Given the description of an element on the screen output the (x, y) to click on. 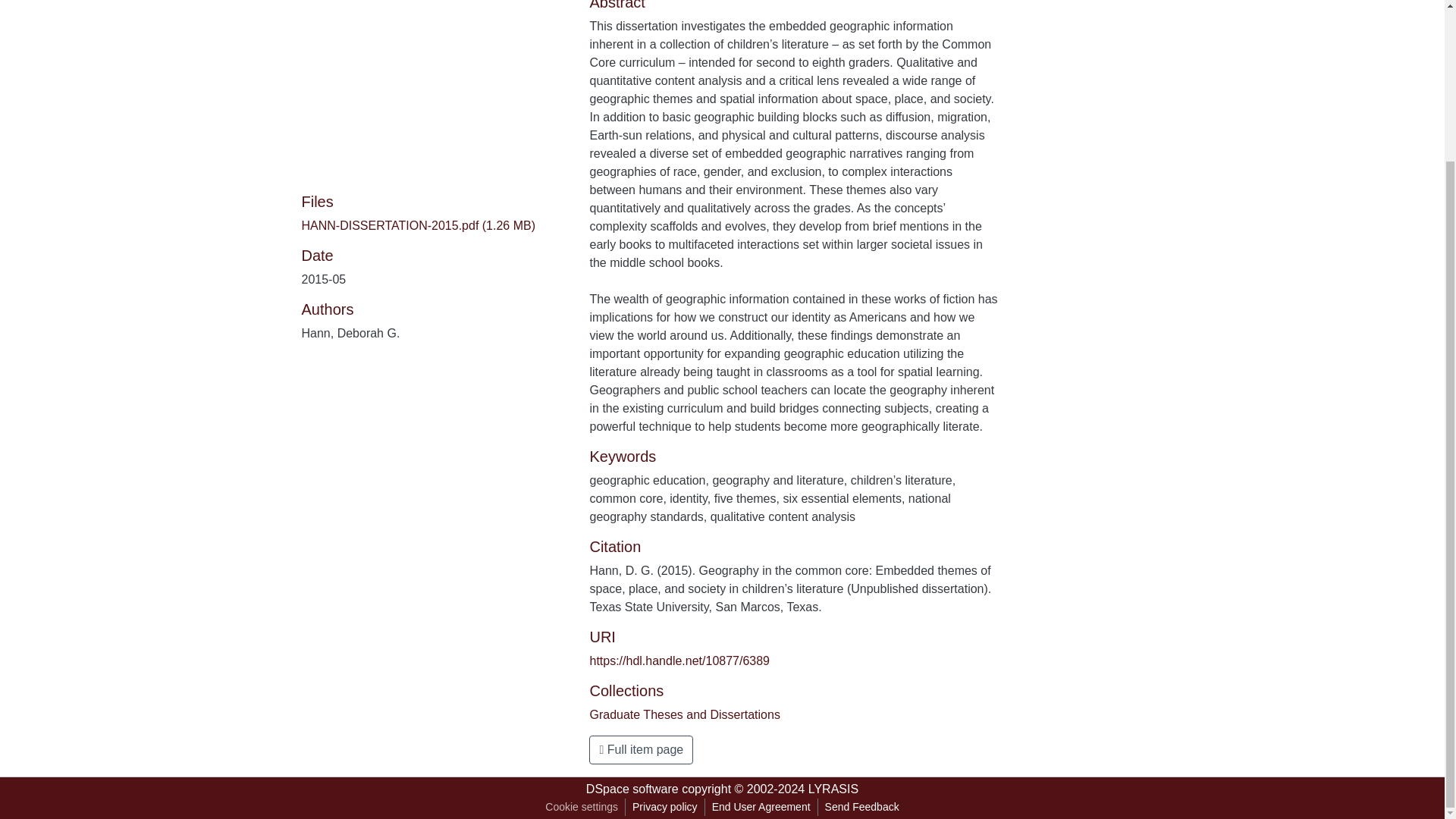
Full item page (641, 749)
End User Agreement (760, 806)
LYRASIS (833, 788)
DSpace software (632, 788)
Graduate Theses and Dissertations (683, 714)
Privacy policy (665, 806)
Send Feedback (861, 806)
Cookie settings (581, 806)
